Given the description of an element on the screen output the (x, y) to click on. 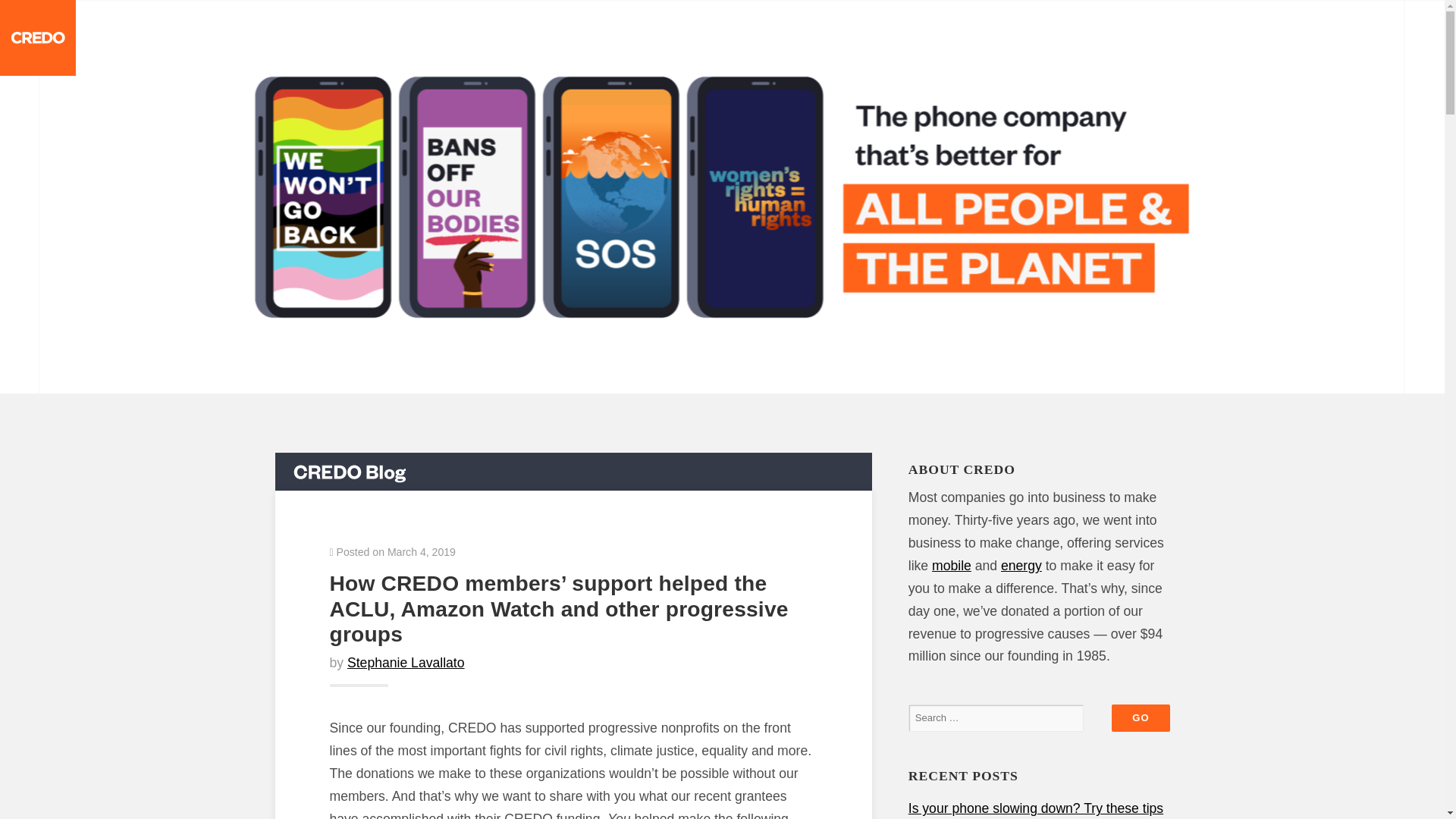
Go (1140, 718)
Posts by Stephanie Lavallato (405, 662)
Go (1140, 718)
energy (1021, 565)
mobile (951, 565)
Stephanie Lavallato (405, 662)
Is your phone slowing down? Try these tips to speed it up (1035, 809)
